Given the description of an element on the screen output the (x, y) to click on. 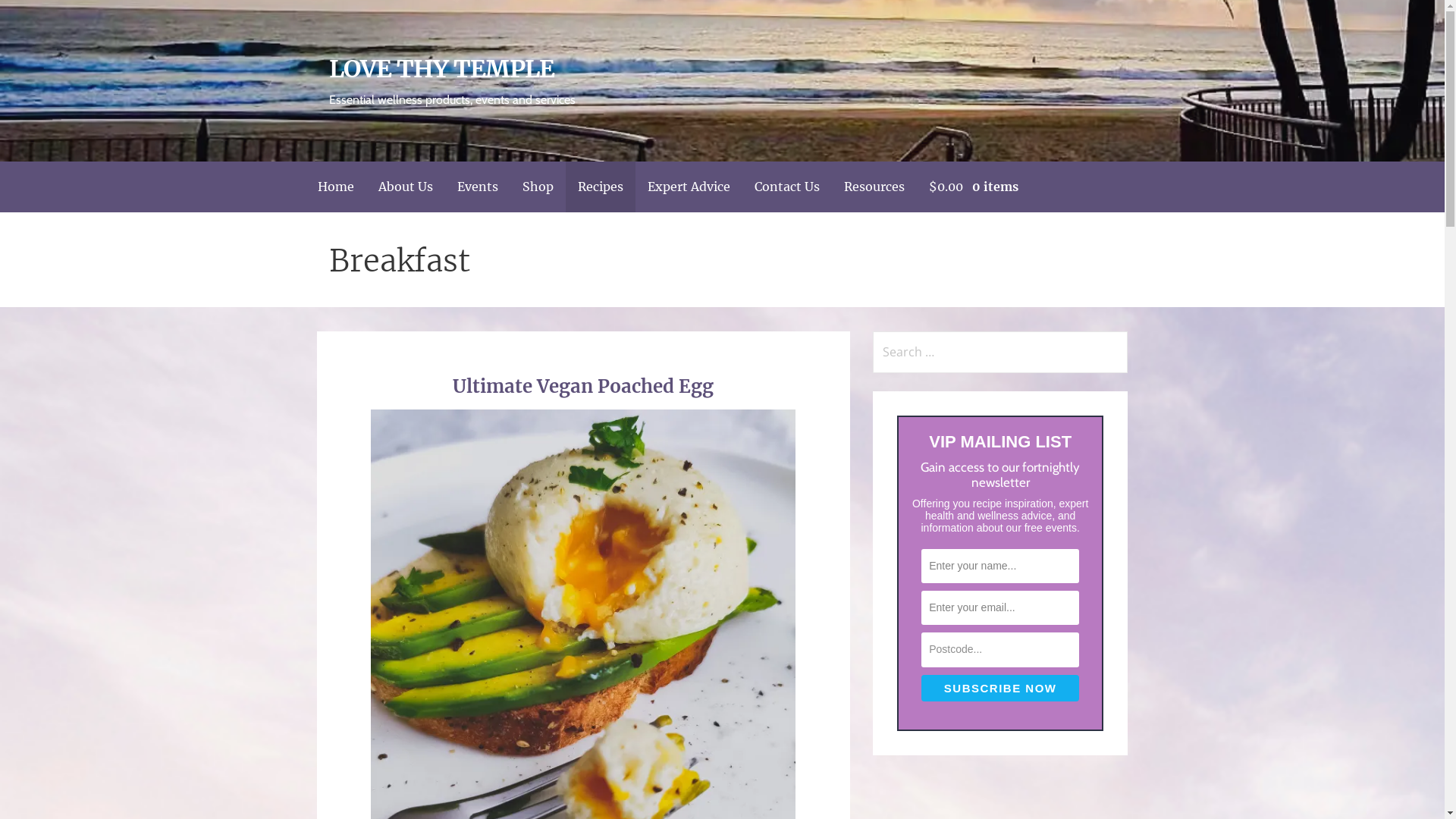
Ultimate Vegan Poached Egg Element type: text (582, 386)
Contact Us Element type: text (786, 186)
Expert Advice Element type: text (688, 186)
Shop Element type: text (536, 186)
LOVE THY TEMPLE Element type: text (442, 68)
Subscribe Now Element type: text (1000, 687)
Home Element type: text (334, 186)
Search Element type: text (32, 15)
Resources Element type: text (873, 186)
Recipes Element type: text (600, 186)
Events Element type: text (476, 186)
$0.00 0 items Element type: text (972, 186)
About Us Element type: text (404, 186)
Take Action Now! Element type: text (101, 13)
